Given the description of an element on the screen output the (x, y) to click on. 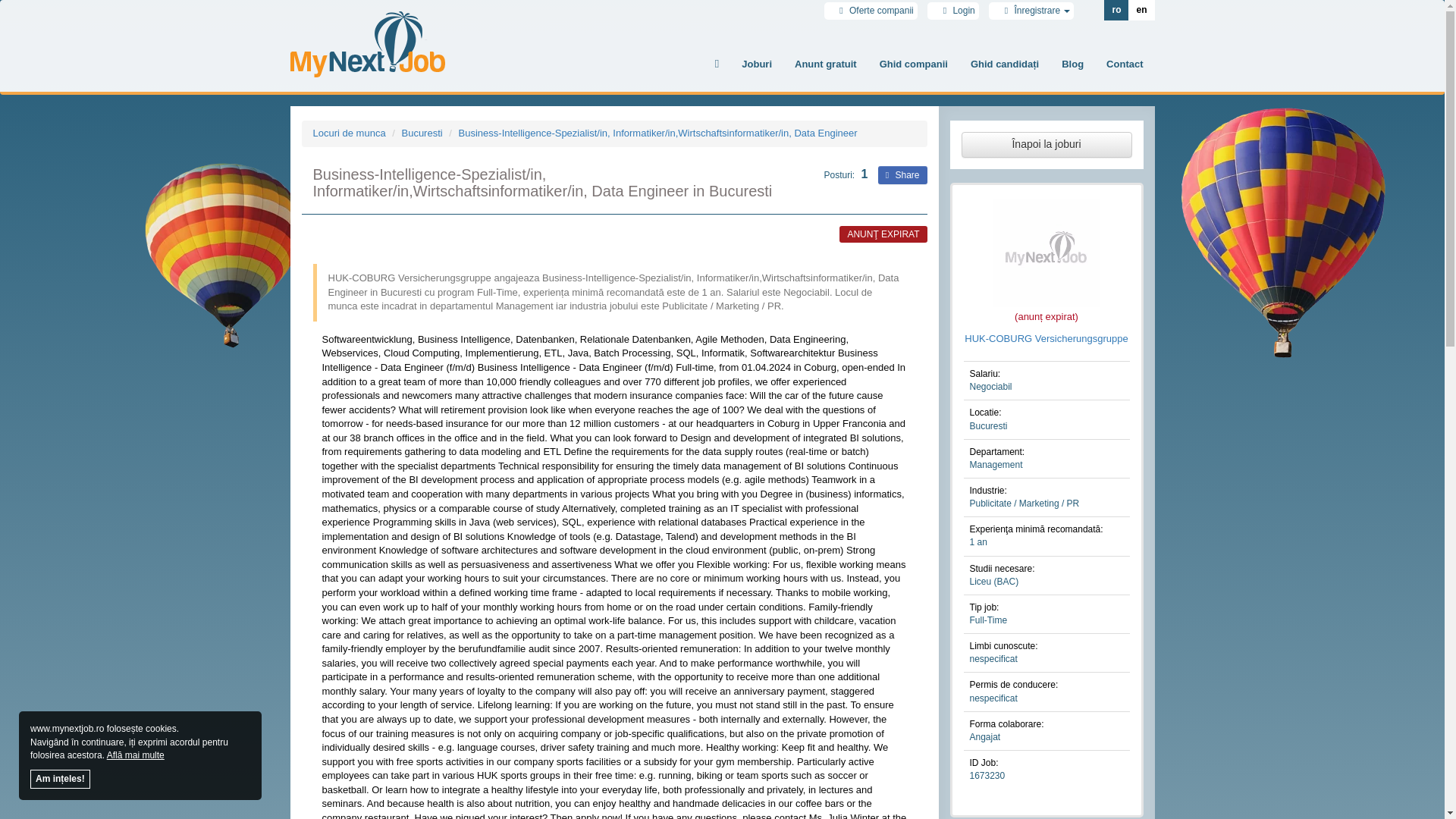
en (1141, 10)
Login (953, 9)
Anunt gratuit (825, 64)
Ghid companii (913, 64)
Bucuresti (421, 132)
Joburi (756, 64)
Locuri de munca (349, 132)
ro (1115, 10)
Share (902, 175)
Blog (1071, 64)
Contact (1124, 64)
Oferte companii (871, 9)
